Given the description of an element on the screen output the (x, y) to click on. 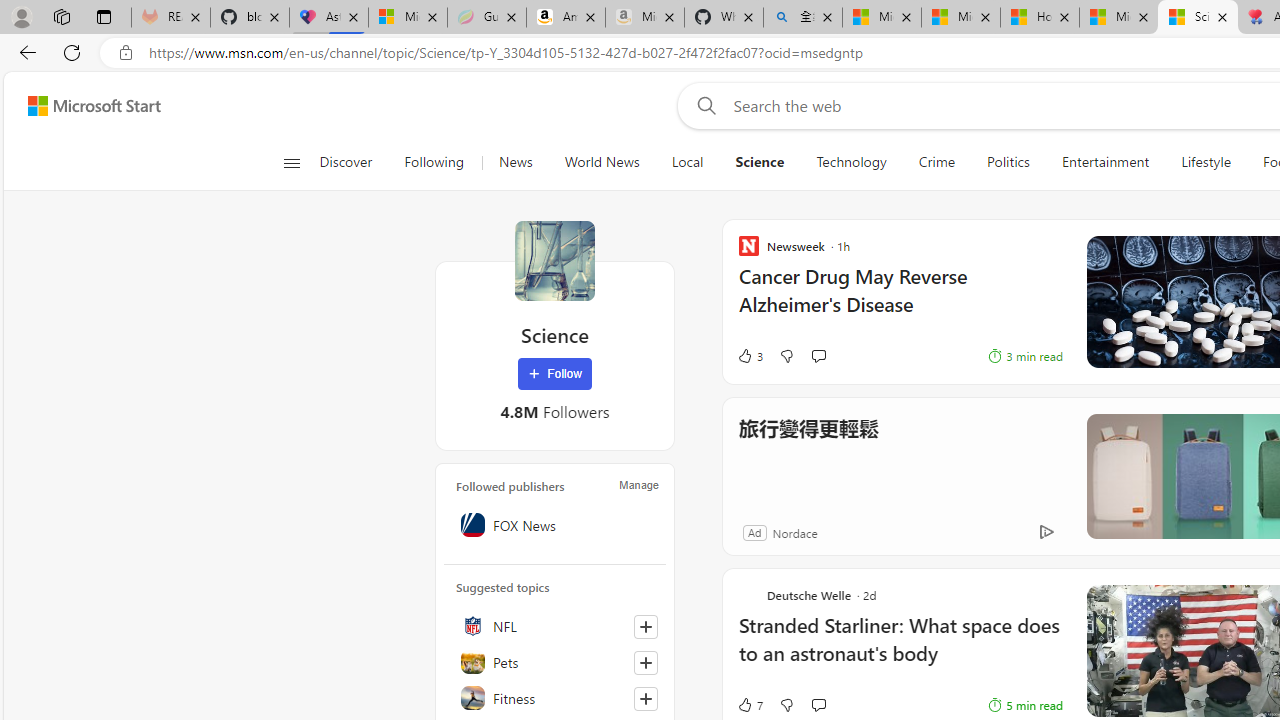
Politics (1008, 162)
Asthma Inhalers: Names and Types (329, 17)
Skip to footer (82, 105)
Class: button-glyph (290, 162)
Crime (936, 162)
NFL (555, 625)
Science (554, 260)
Local (687, 162)
World News (602, 162)
Lifestyle (1205, 162)
